Given the description of an element on the screen output the (x, y) to click on. 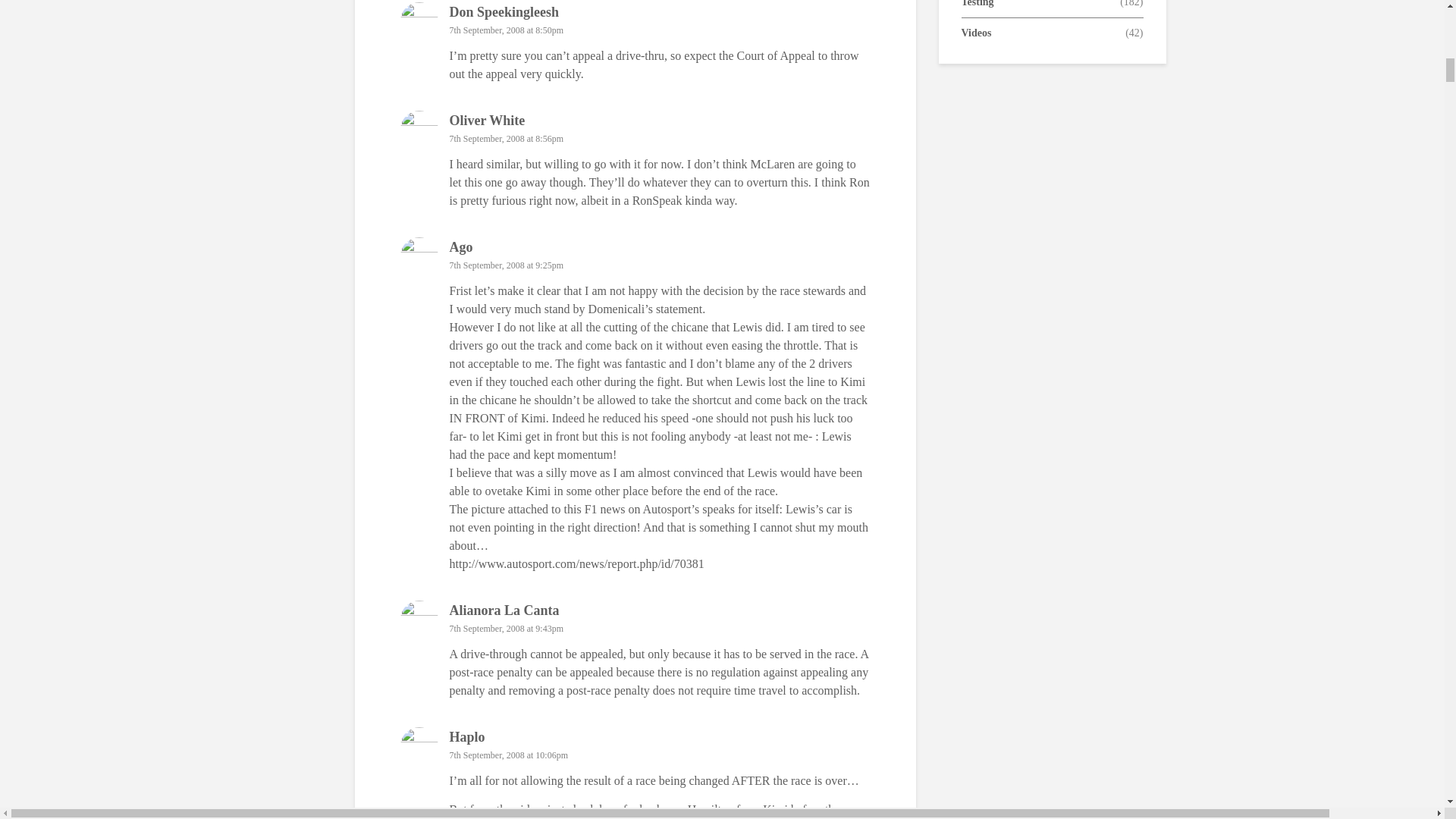
7th September, 2008 at 9:43pm (505, 628)
Alianora La Canta (503, 610)
Oliver White (486, 120)
Don Speekingleesh (503, 11)
Haplo (466, 736)
7th September, 2008 at 8:56pm (505, 138)
7th September, 2008 at 9:25pm (505, 265)
7th September, 2008 at 8:50pm (505, 30)
Ago (459, 246)
